Given the description of an element on the screen output the (x, y) to click on. 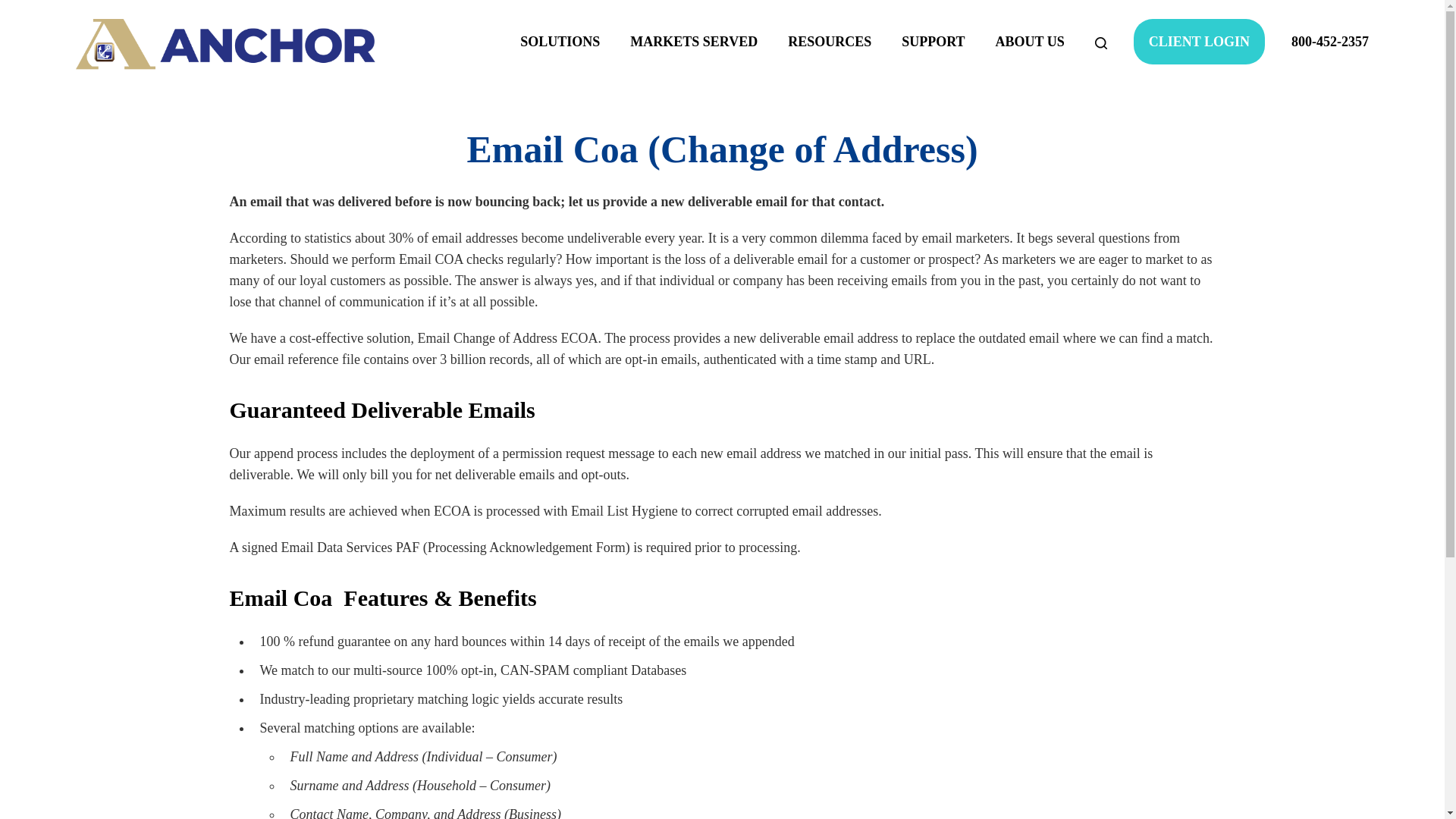
SUPPORT (932, 41)
ABOUT US (1029, 41)
SOLUTIONS (559, 41)
Markets Served (693, 41)
MARKETS SERVED (693, 41)
RESOURCES (829, 41)
Return to the homepage (225, 43)
Solutions (559, 41)
